Given the description of an element on the screen output the (x, y) to click on. 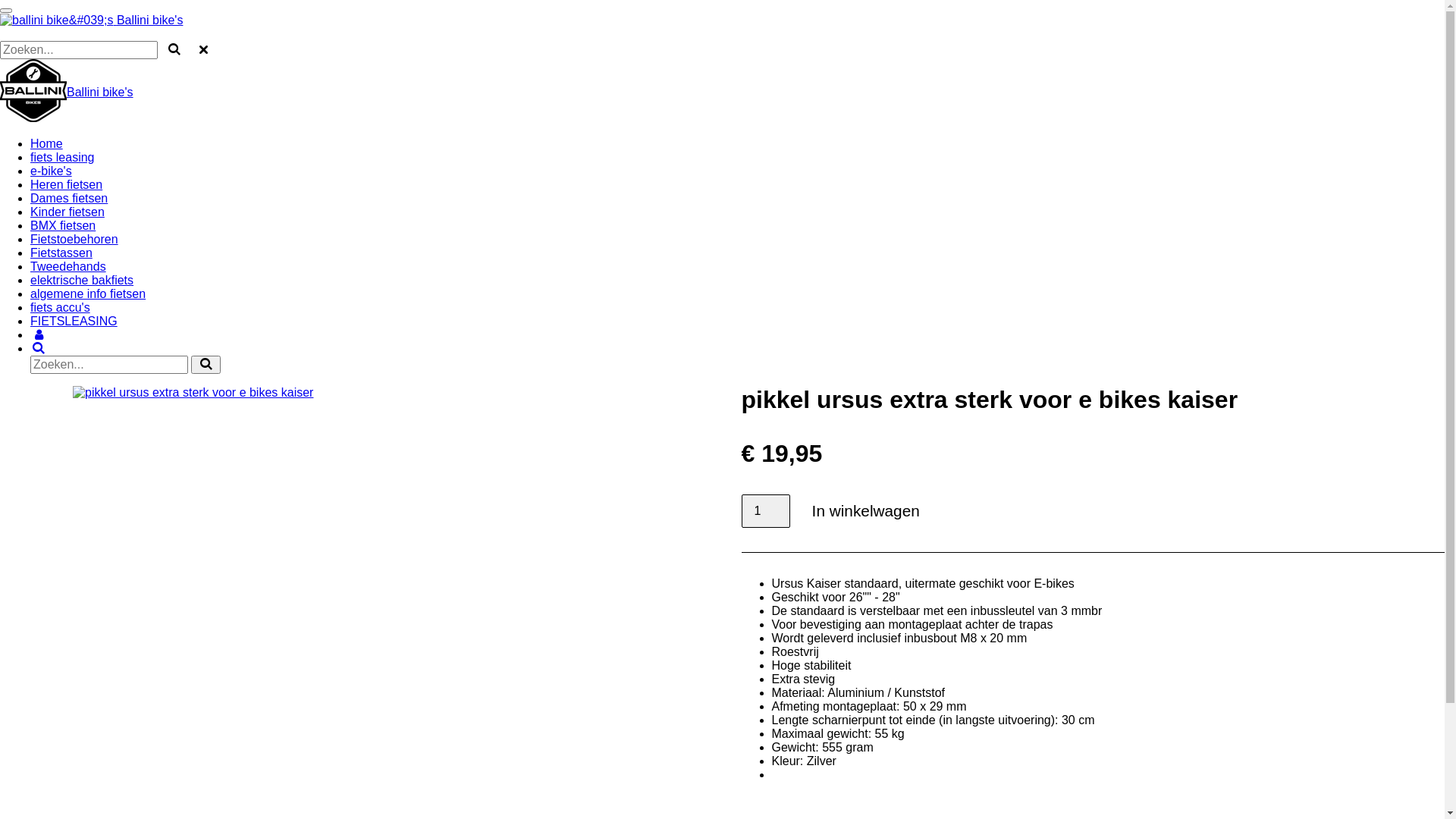
ballini bike's Element type: hover (33, 90)
Tweedehands Element type: text (68, 266)
Ballini bike's Element type: text (99, 90)
BMX fietsen Element type: text (62, 225)
Home Element type: text (46, 143)
fiets accu's Element type: text (60, 307)
fiets leasing Element type: text (62, 156)
e-bike's Element type: text (51, 170)
Fietstassen Element type: text (61, 252)
Dames fietsen Element type: text (68, 197)
Zoeken Element type: hover (38, 348)
Heren fietsen Element type: text (66, 184)
algemene info fietsen Element type: text (87, 293)
elektrische bakfiets Element type: text (81, 279)
FIETSLEASING Element type: text (73, 320)
ballini bike&#039;s Element type: hover (56, 20)
Ballini bike's Element type: text (91, 19)
Kinder fietsen Element type: text (67, 211)
In winkelwagen Element type: text (865, 511)
Fietstoebehoren Element type: text (74, 238)
Account Element type: hover (38, 334)
